Given the description of an element on the screen output the (x, y) to click on. 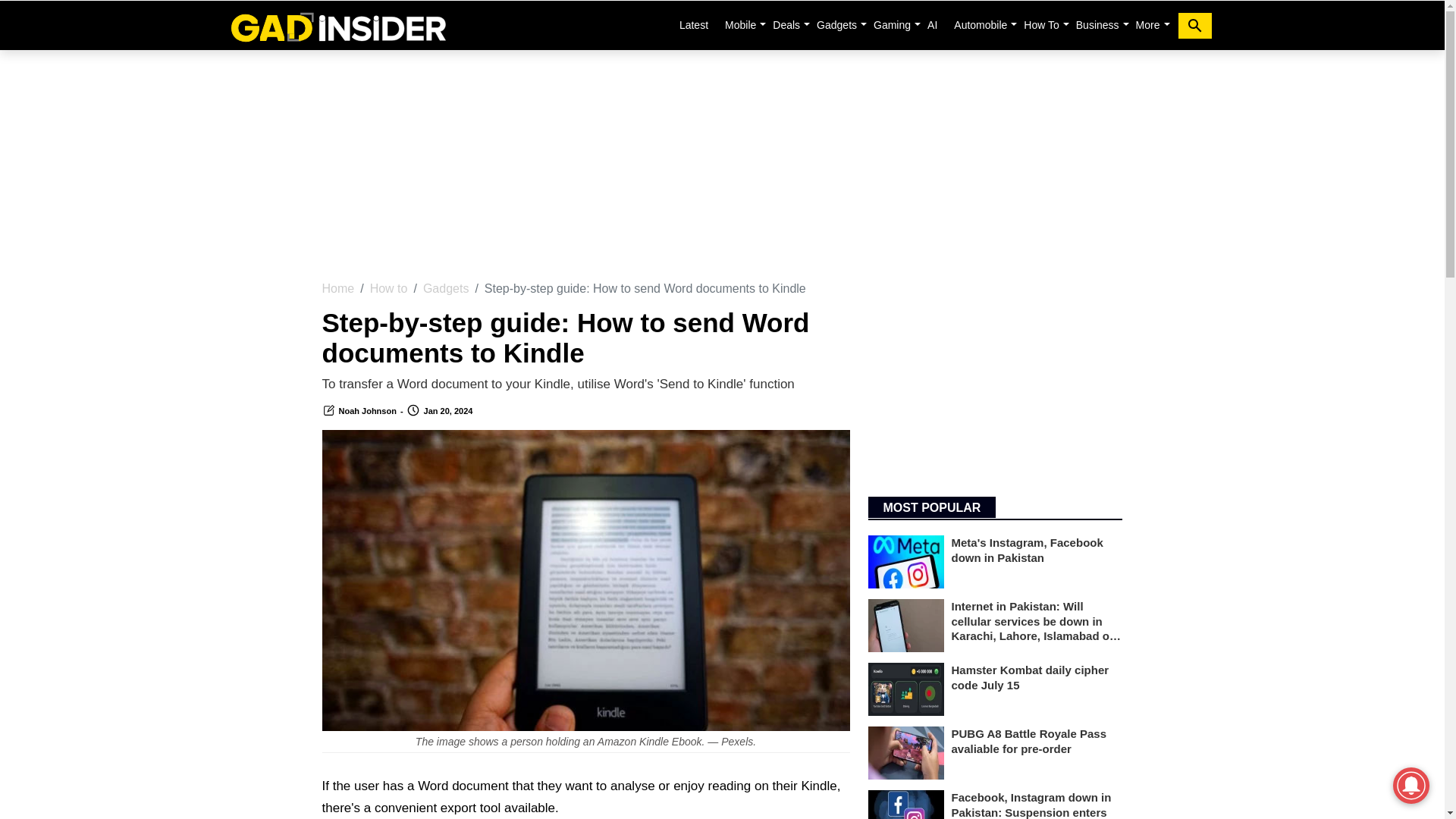
Gadgets (836, 24)
Deals (786, 24)
latest (693, 24)
Home (337, 287)
AI (932, 24)
Home (337, 24)
Mobile (740, 24)
Latest (693, 24)
Mobile (740, 24)
Gaming (892, 24)
Business (1097, 24)
More (1147, 24)
Gadgets (836, 24)
Automobile (980, 24)
Gaming (892, 24)
